Given the description of an element on the screen output the (x, y) to click on. 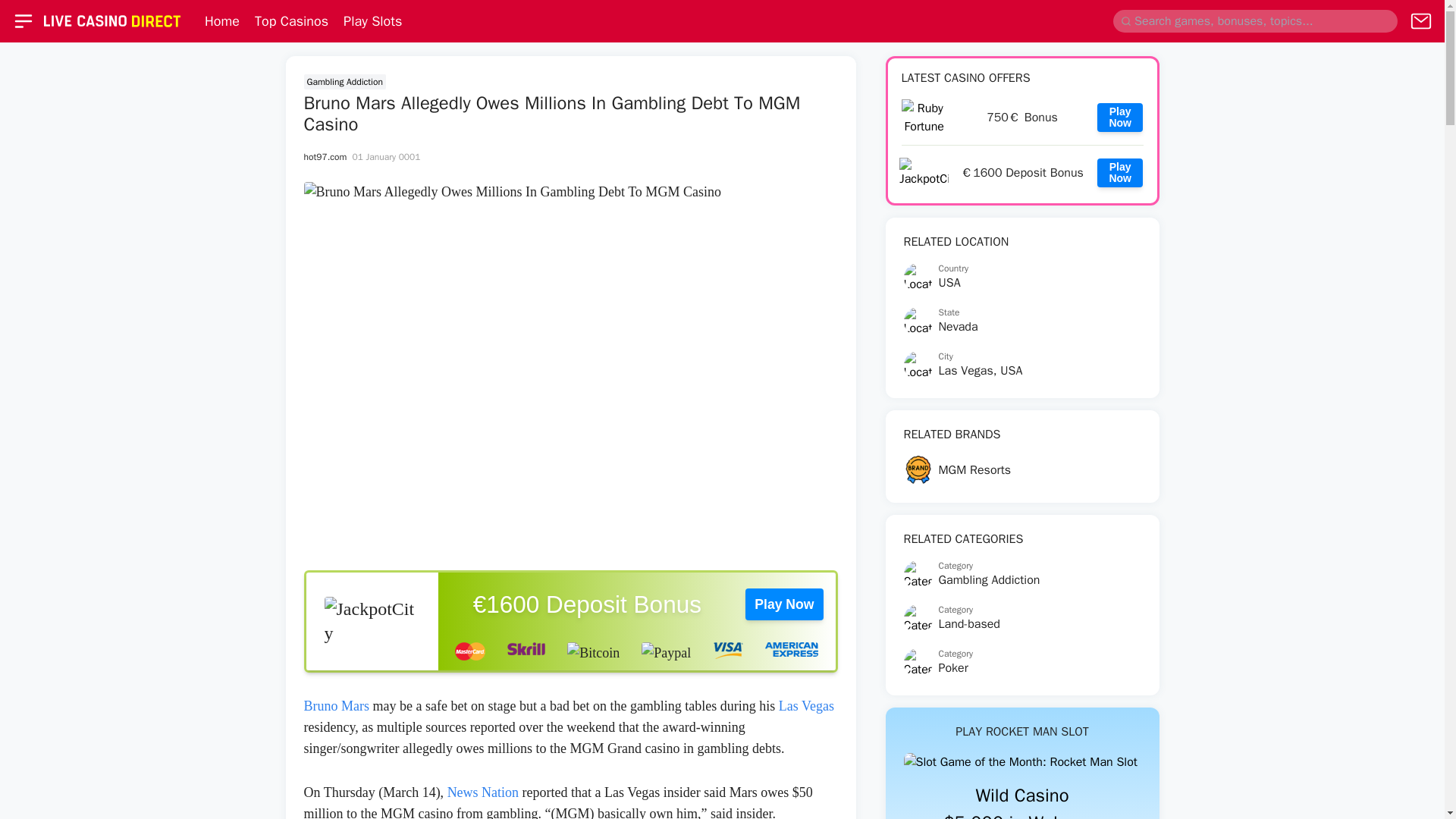
Play Now (1119, 117)
Play Now (1119, 173)
Play Slots (372, 20)
Ruby Fortune (1022, 276)
Slot Game of the Month: Rocket Man Slot (1021, 117)
Home (1022, 365)
Top Casinos (1022, 761)
